Given the description of an element on the screen output the (x, y) to click on. 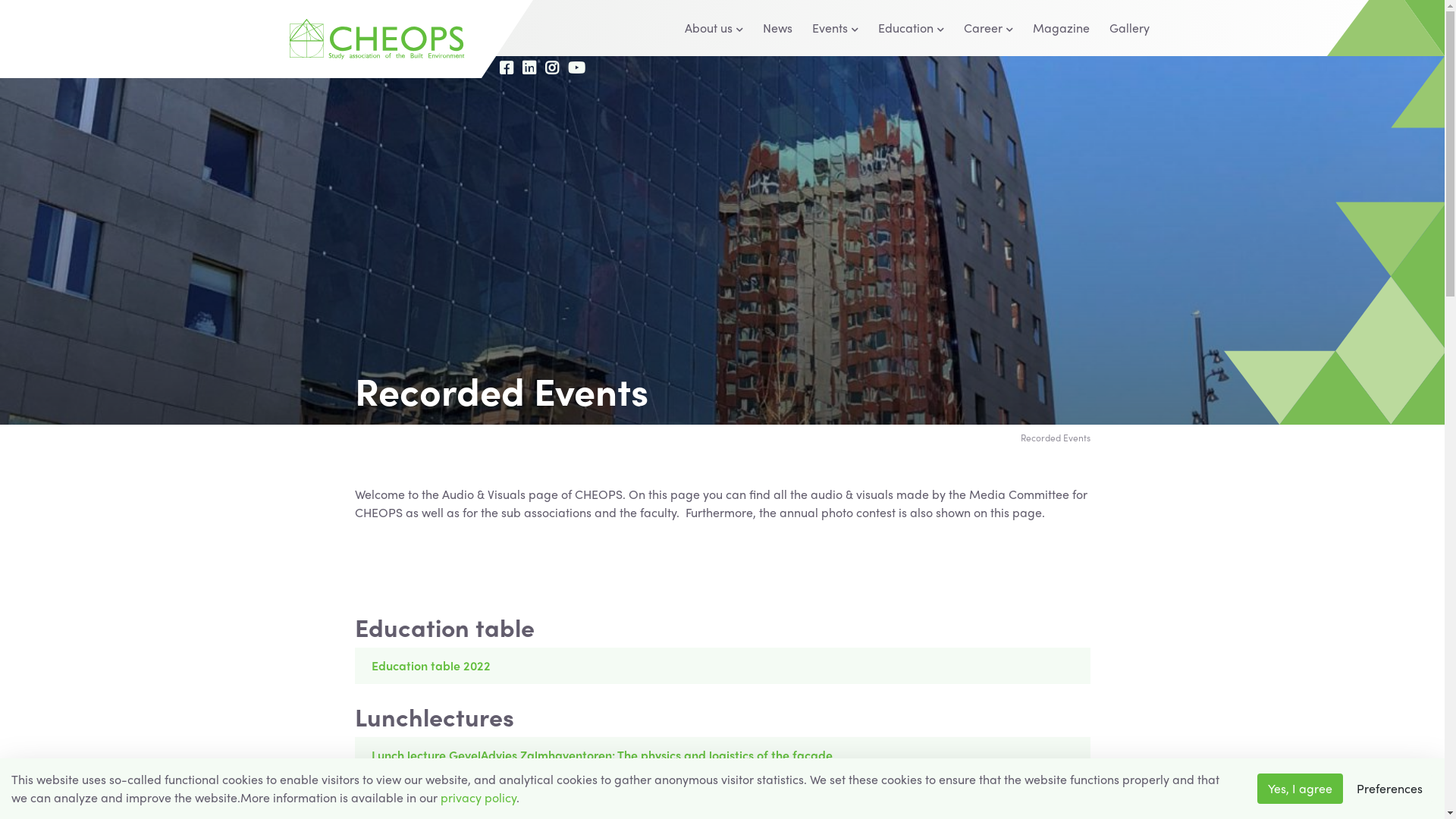
Preferences Element type: text (1389, 788)
Events Element type: text (835, 28)
Gallery Element type: text (1129, 28)
LinkedIn Element type: hover (529, 68)
Facebook Element type: hover (506, 68)
Lunch lecutre Count&Cooper: Data in complex projects Element type: text (722, 790)
Education Element type: text (910, 28)
News Element type: text (777, 28)
YouTube Element type: hover (576, 68)
Career Element type: text (987, 28)
Magazine Element type: text (1060, 28)
privacy policy Element type: text (478, 797)
Education table 2022 Element type: text (722, 665)
About us Element type: text (713, 28)
Instagram Element type: hover (551, 68)
Yes, I agree Element type: text (1300, 788)
